Given the description of an element on the screen output the (x, y) to click on. 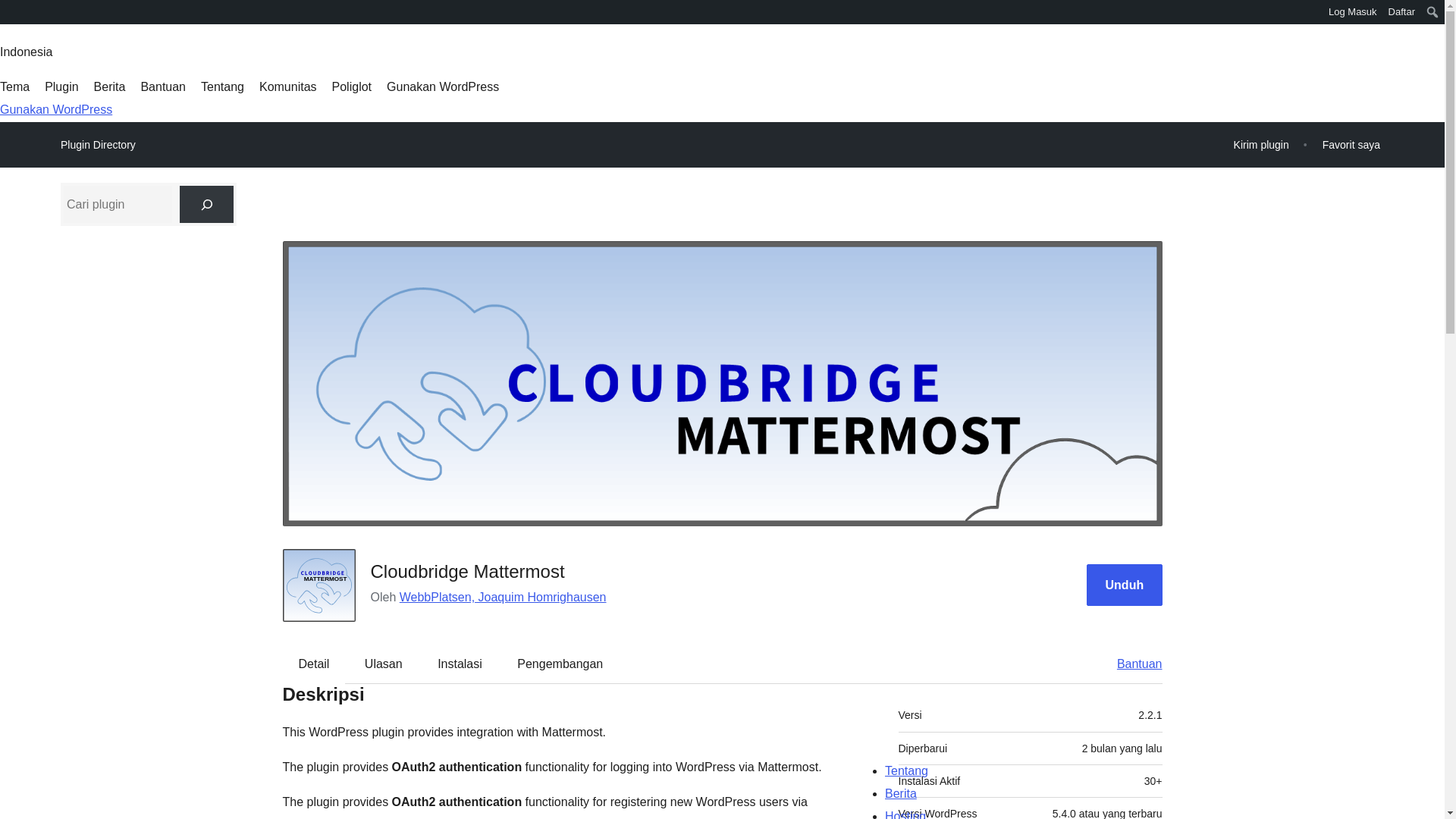
Poliglot (351, 87)
Plugin (61, 87)
Gunakan WordPress (443, 87)
Ulasan (383, 664)
Detail (314, 664)
WordPress.org (10, 10)
Daftar (1402, 12)
Berita (109, 87)
Gunakan WordPress (56, 109)
WebbPlatsen, Joaquim Homrighausen (502, 596)
